Given the description of an element on the screen output the (x, y) to click on. 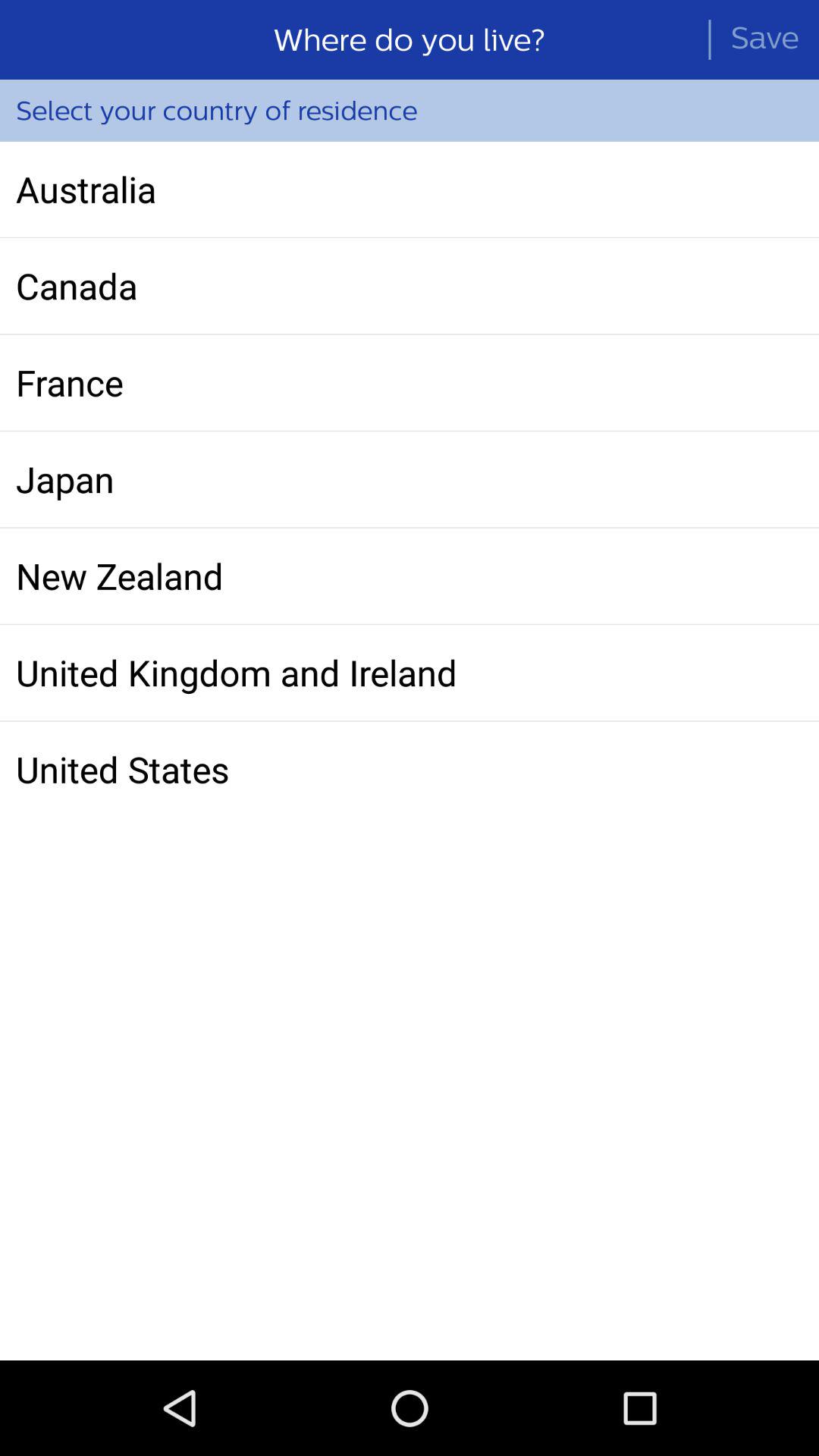
launch the canada icon (409, 285)
